Given the description of an element on the screen output the (x, y) to click on. 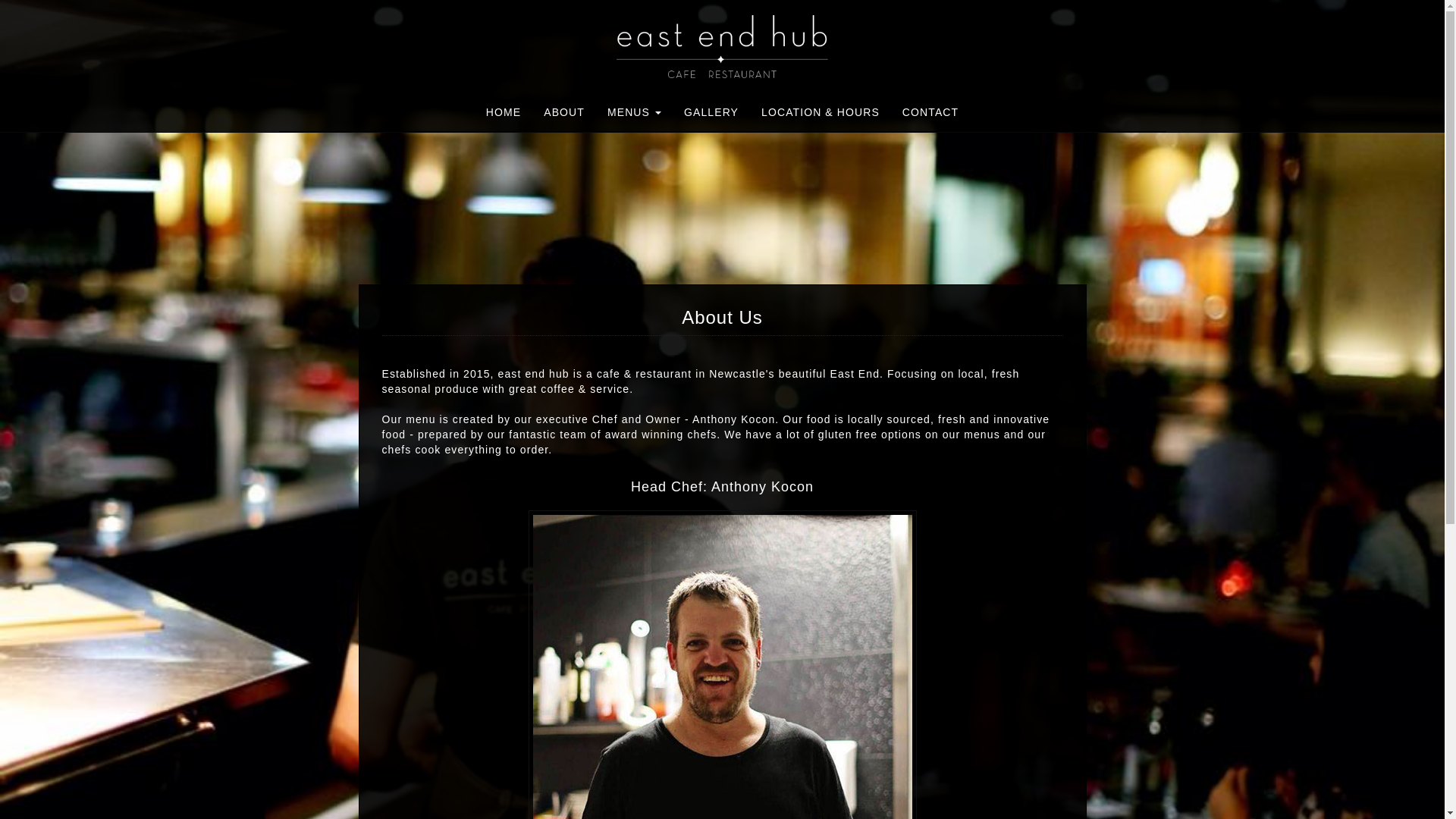
ABOUT Element type: text (564, 112)
MENUS Element type: text (634, 112)
LOCATION & HOURS Element type: text (820, 112)
HOME Element type: text (503, 112)
GALLERY Element type: text (710, 112)
CONTACT Element type: text (930, 112)
